Given the description of an element on the screen output the (x, y) to click on. 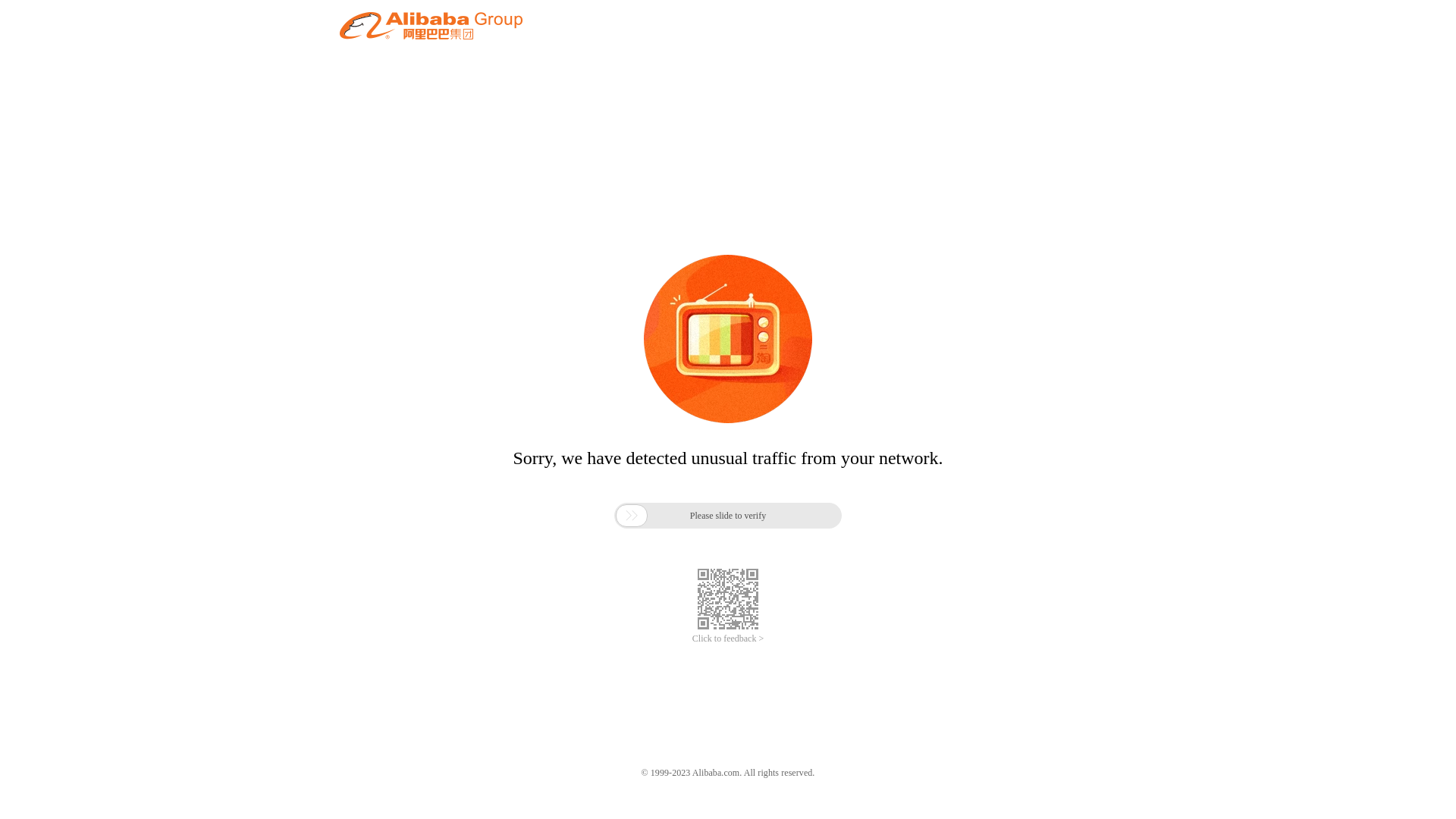
Click to feedback > Element type: text (727, 638)
